Given the description of an element on the screen output the (x, y) to click on. 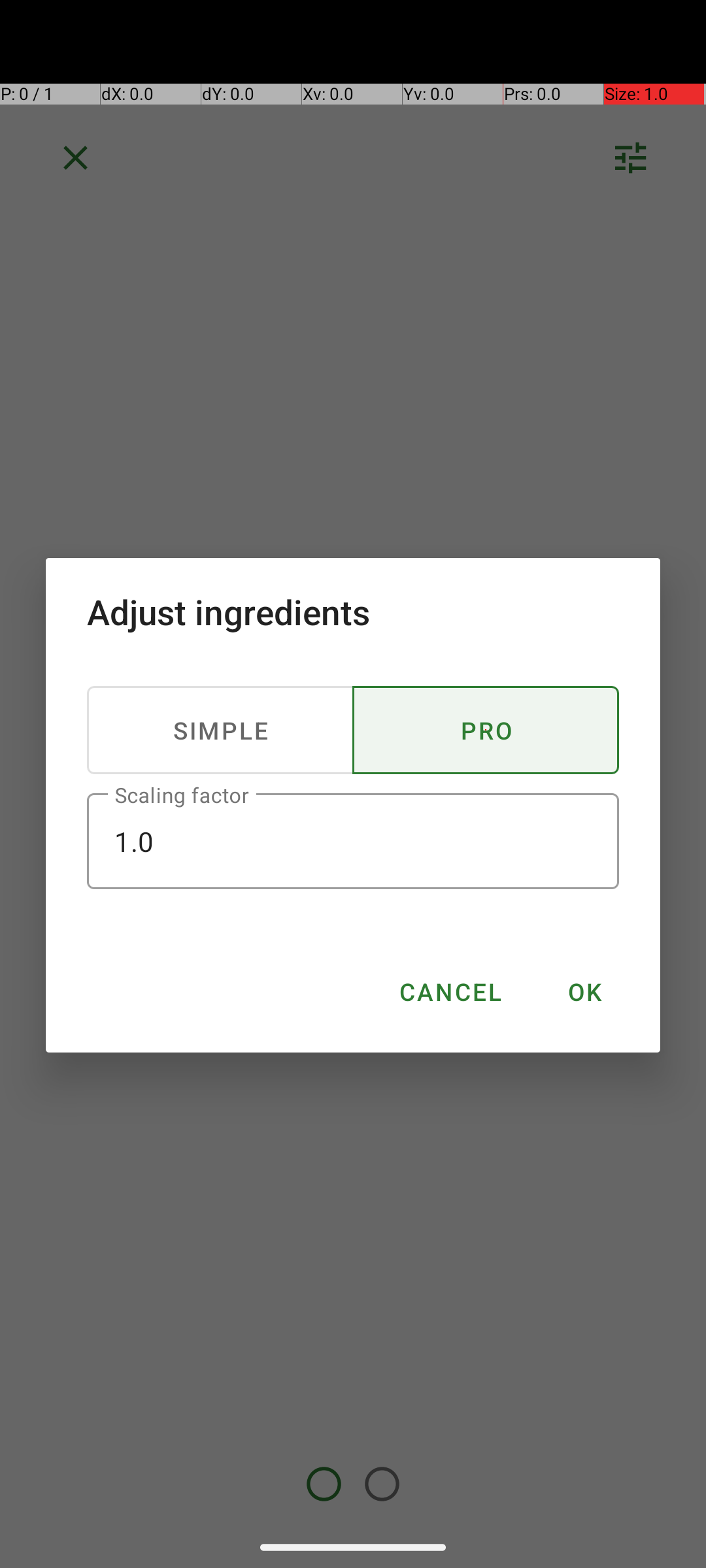
1.0 Element type: android.widget.EditText (352, 841)
